Given the description of an element on the screen output the (x, y) to click on. 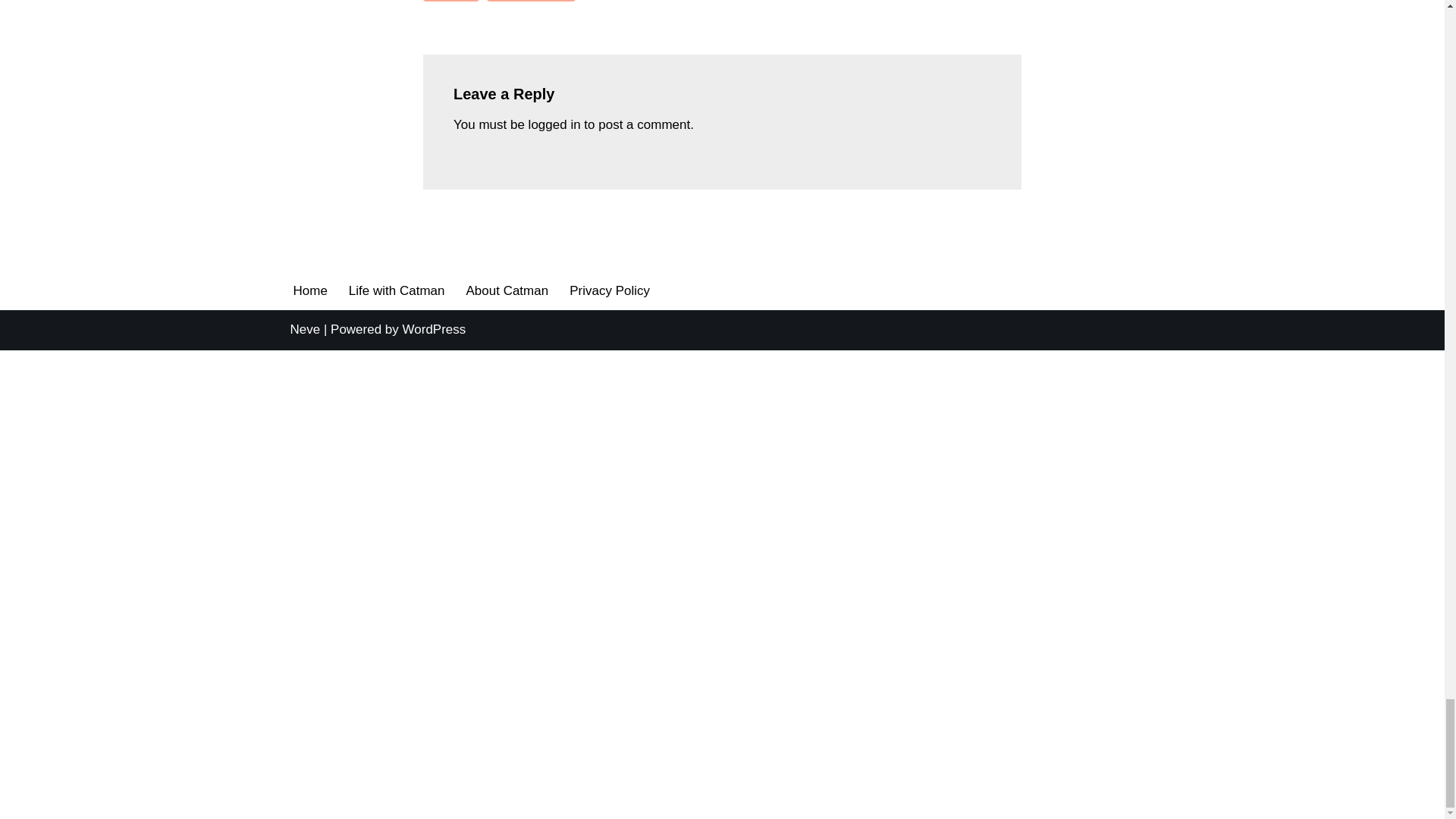
Home (309, 290)
catman (451, 0)
Life with Catman (397, 290)
About Catman (506, 290)
CATMAN (451, 0)
Privacy Policy (609, 290)
diet for cats (530, 0)
DIET FOR CATS (530, 0)
logged in (554, 124)
